Given the description of an element on the screen output the (x, y) to click on. 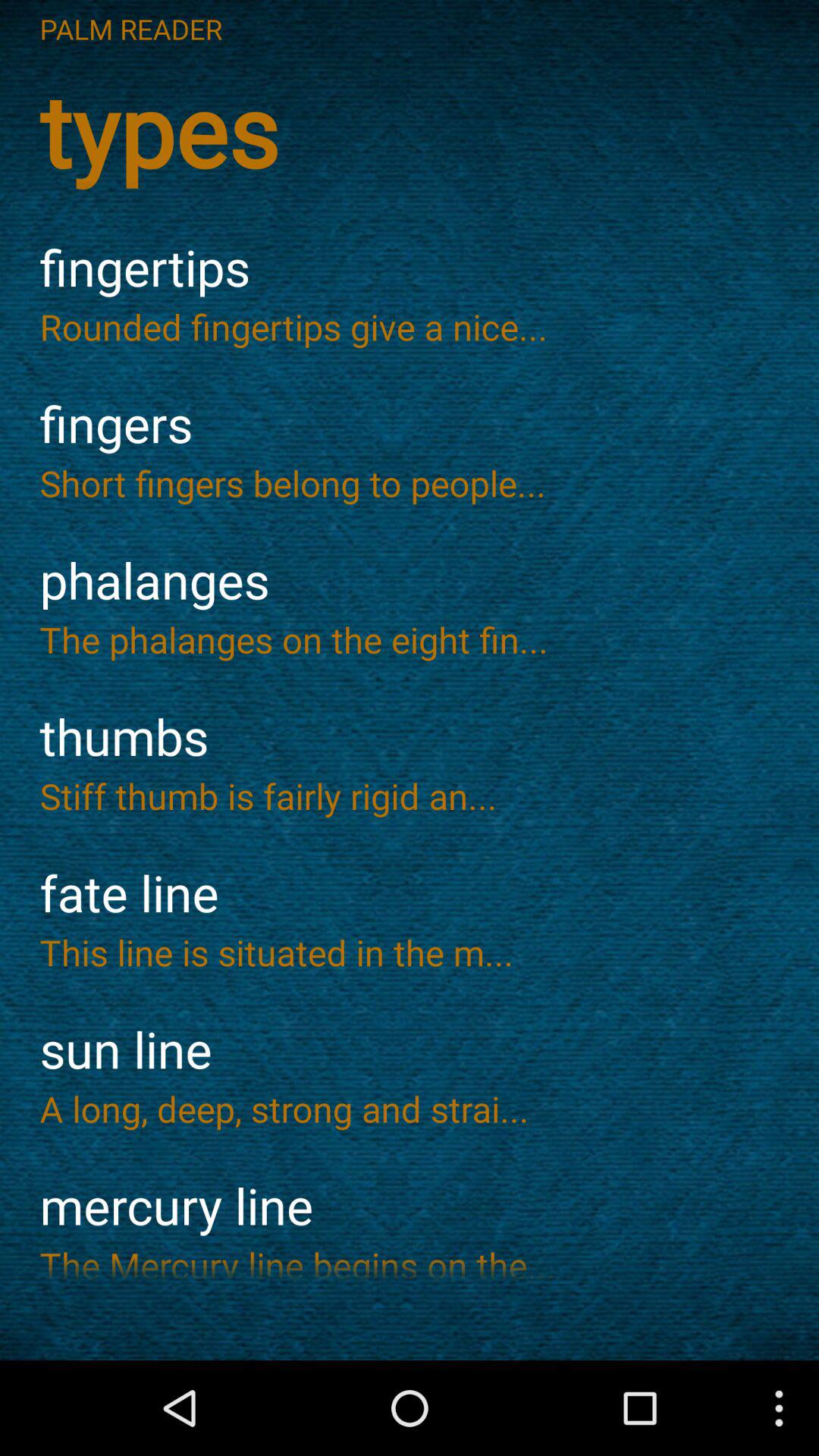
swipe to rounded fingertips give (409, 326)
